Given the description of an element on the screen output the (x, y) to click on. 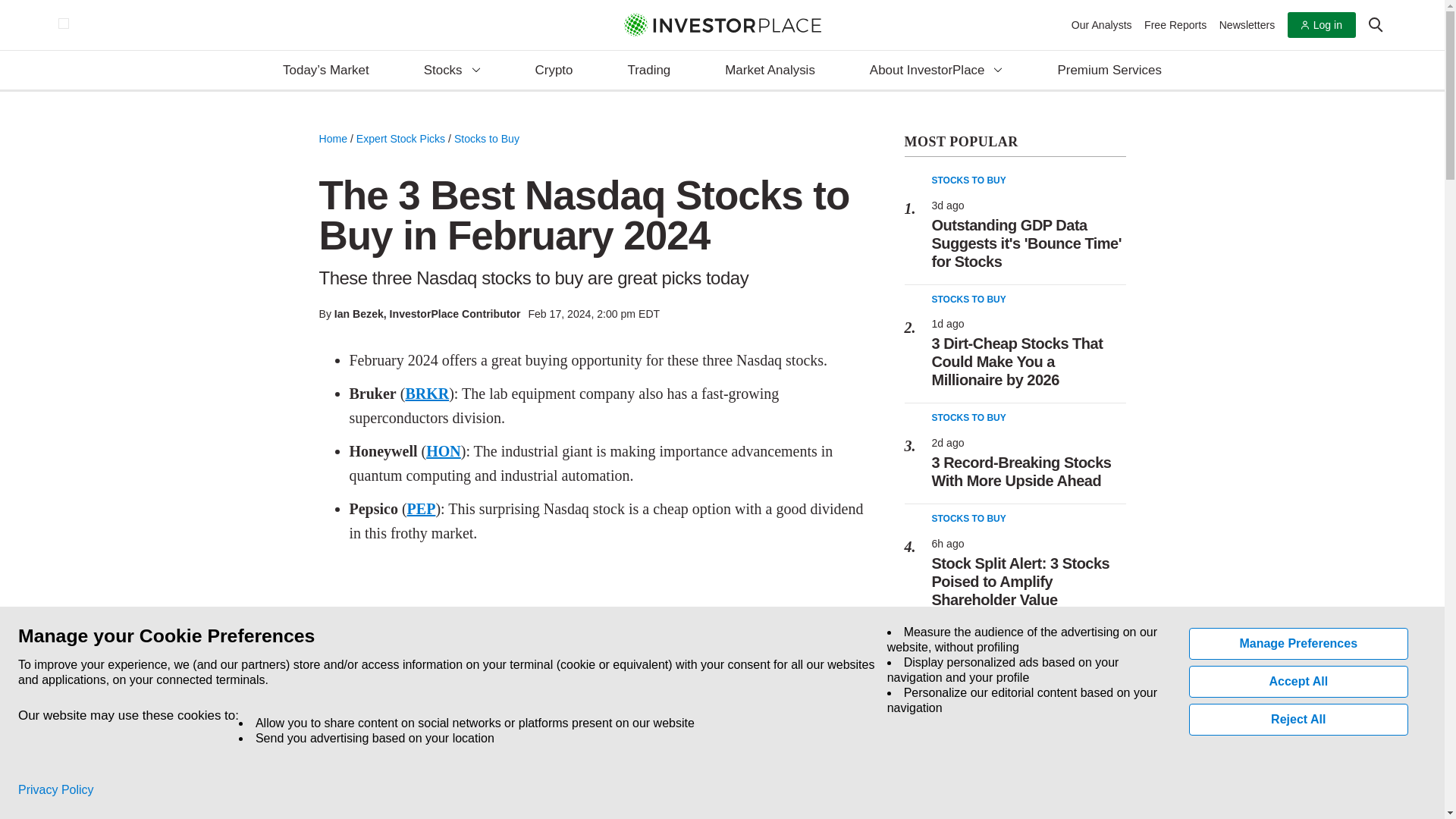
Log in (1321, 25)
Free Reports (1175, 24)
Stocks (452, 70)
Manage Preferences (1299, 644)
Reject All (1299, 719)
View profile of Ian Bezek (359, 313)
Accept All (1299, 681)
Newsletters (1247, 24)
Our Analysts (1101, 24)
Privacy Policy (55, 789)
